Given the description of an element on the screen output the (x, y) to click on. 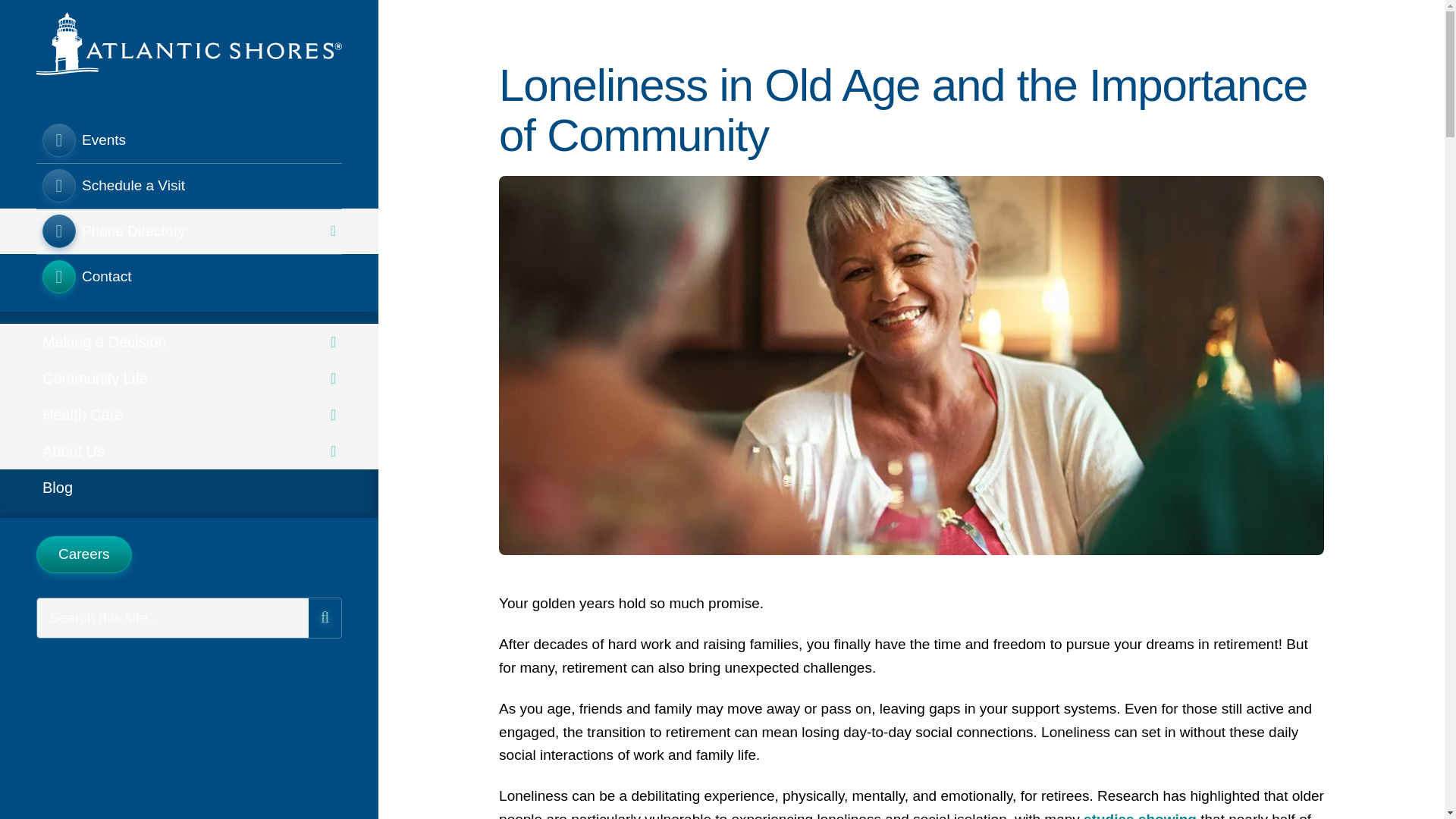
Phone Directory (189, 230)
Contact (189, 276)
Community Life (189, 378)
Events (189, 139)
Schedule a Visit (189, 185)
Making a Decision (189, 341)
About Us (189, 451)
Health Care (189, 414)
